Given the description of an element on the screen output the (x, y) to click on. 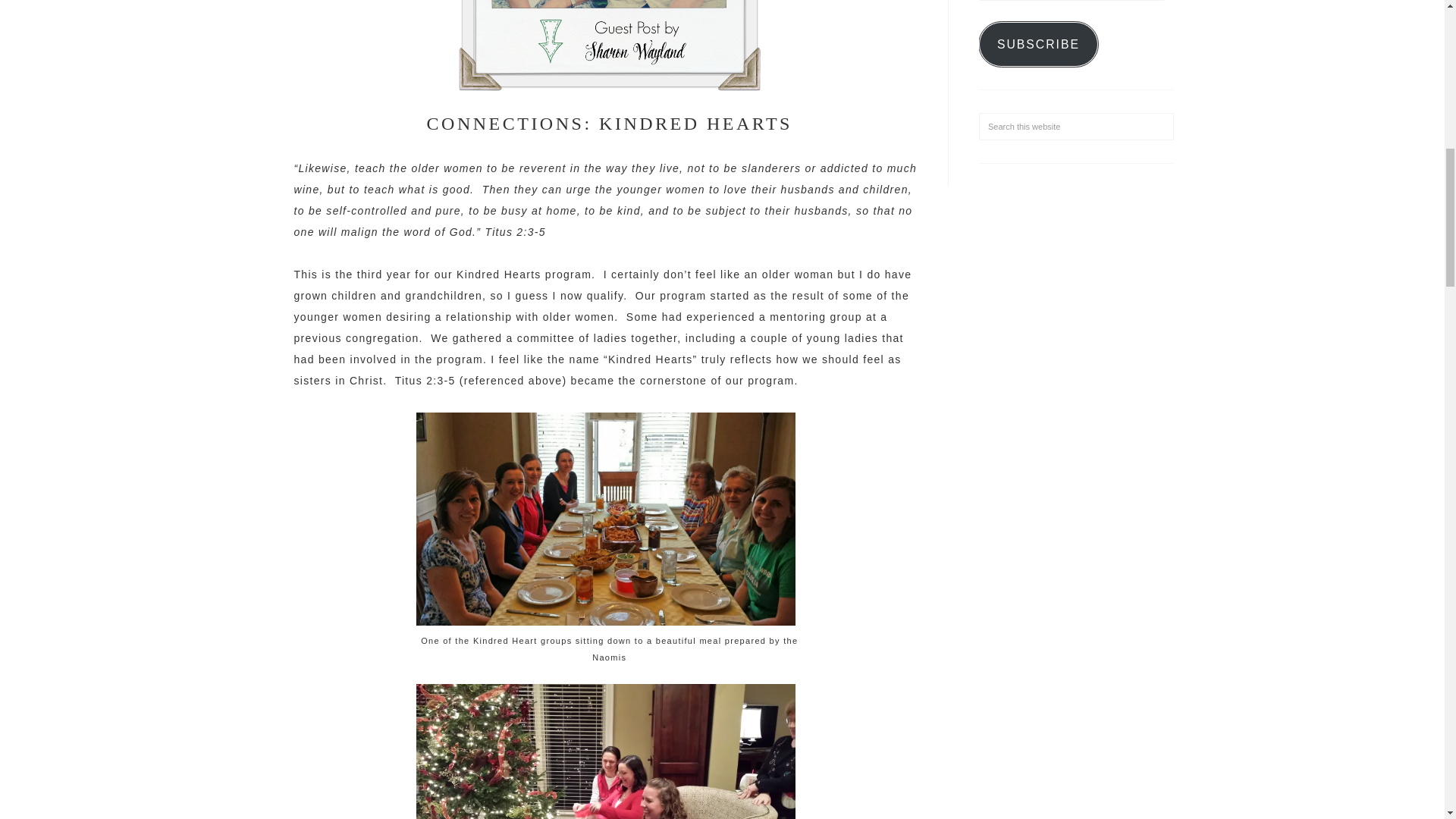
SUBSCRIBE (1037, 44)
